Given the description of an element on the screen output the (x, y) to click on. 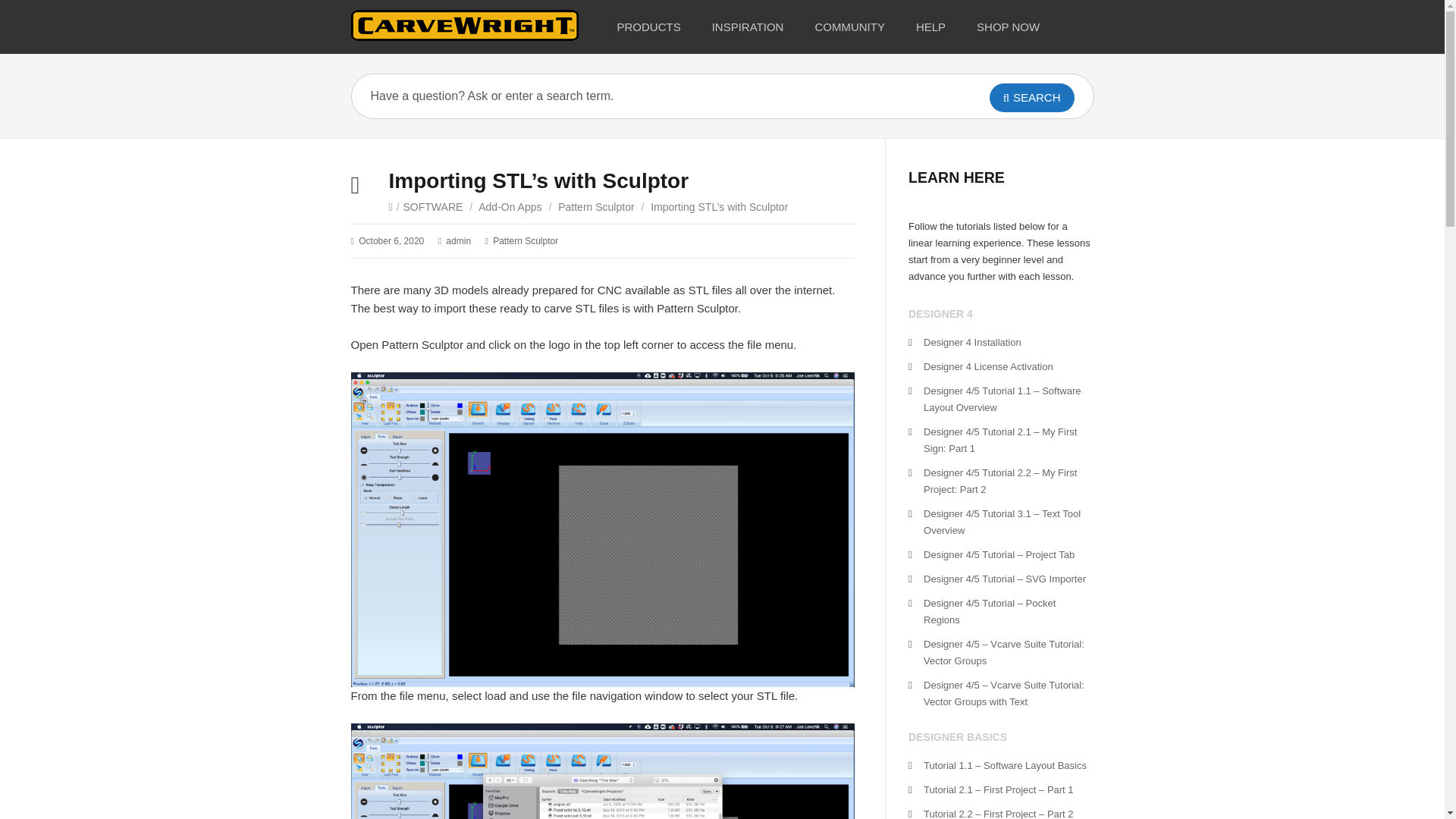
Have a question? Ask or enter a search term. (648, 95)
INSPIRATION (748, 27)
SOFTWARE (433, 206)
COMMUNITY (850, 27)
SEARCH (1032, 97)
SHOP NOW (1007, 27)
HELP (930, 27)
PRODUCTS (649, 27)
